Given the description of an element on the screen output the (x, y) to click on. 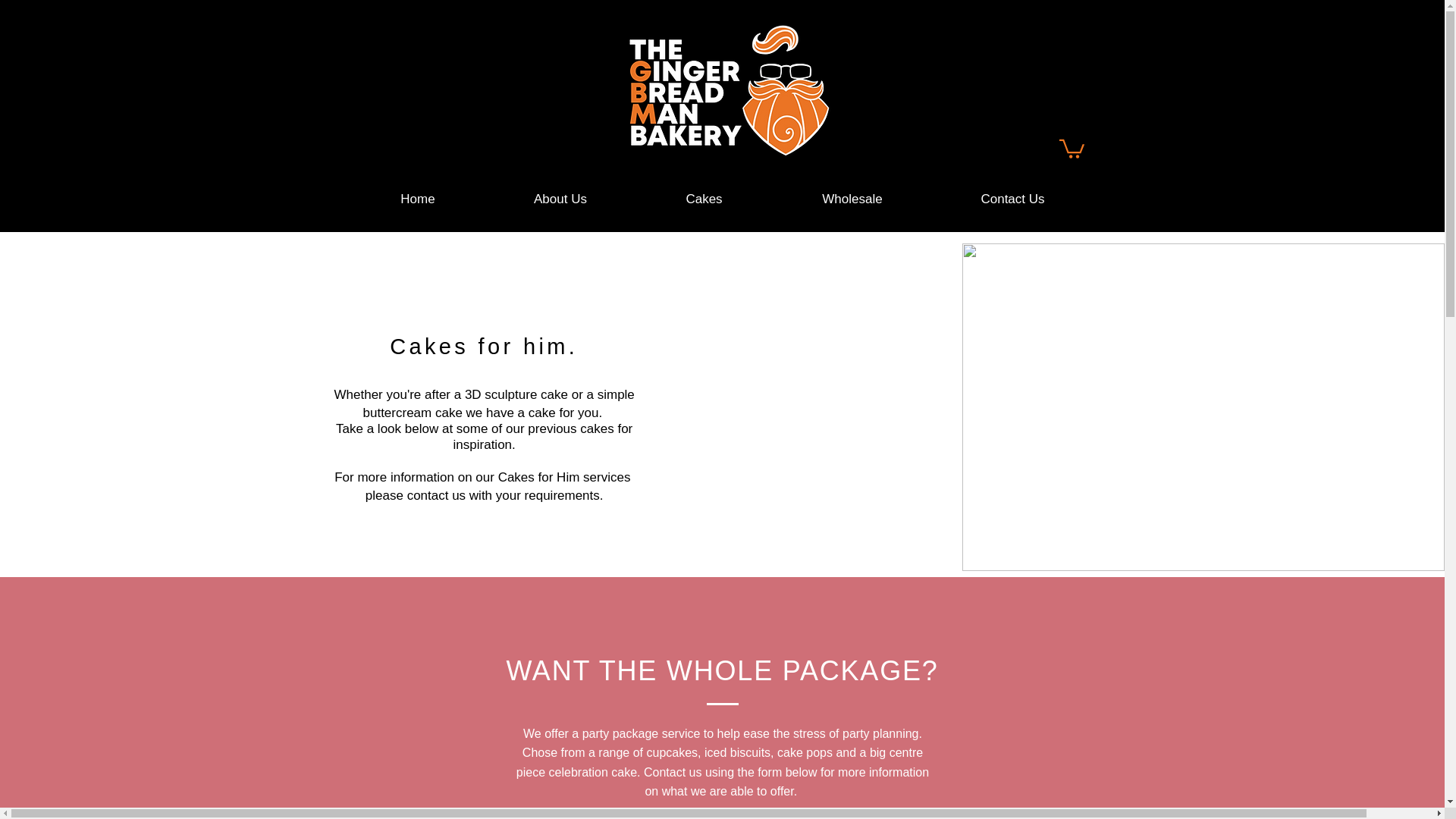
93 Hersham Road, (1174, 32)
Home (417, 198)
Cakes (702, 198)
Wholesale (851, 198)
About Us (560, 198)
Contact Us (1013, 198)
